Given the description of an element on the screen output the (x, y) to click on. 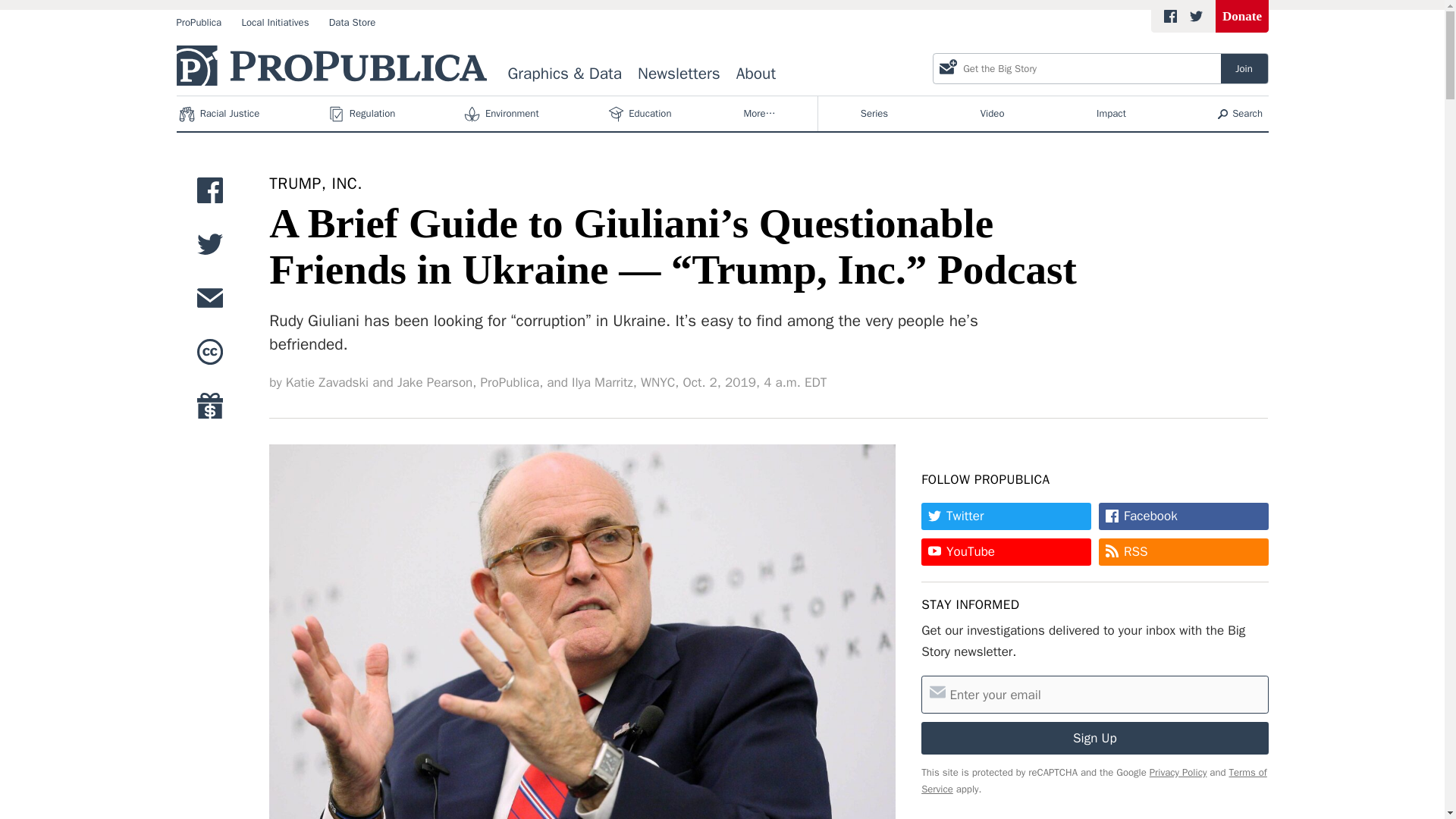
Newsletters (679, 74)
Video (992, 113)
Katie Zavadski (326, 382)
Join (315, 183)
Sign Up (1244, 68)
Education (1094, 737)
WNYC (641, 113)
Series (657, 382)
About (873, 113)
ProPublica (755, 74)
Environment (198, 22)
Impact (502, 113)
Donate (1111, 113)
Jake Pearson (1241, 16)
